Given the description of an element on the screen output the (x, y) to click on. 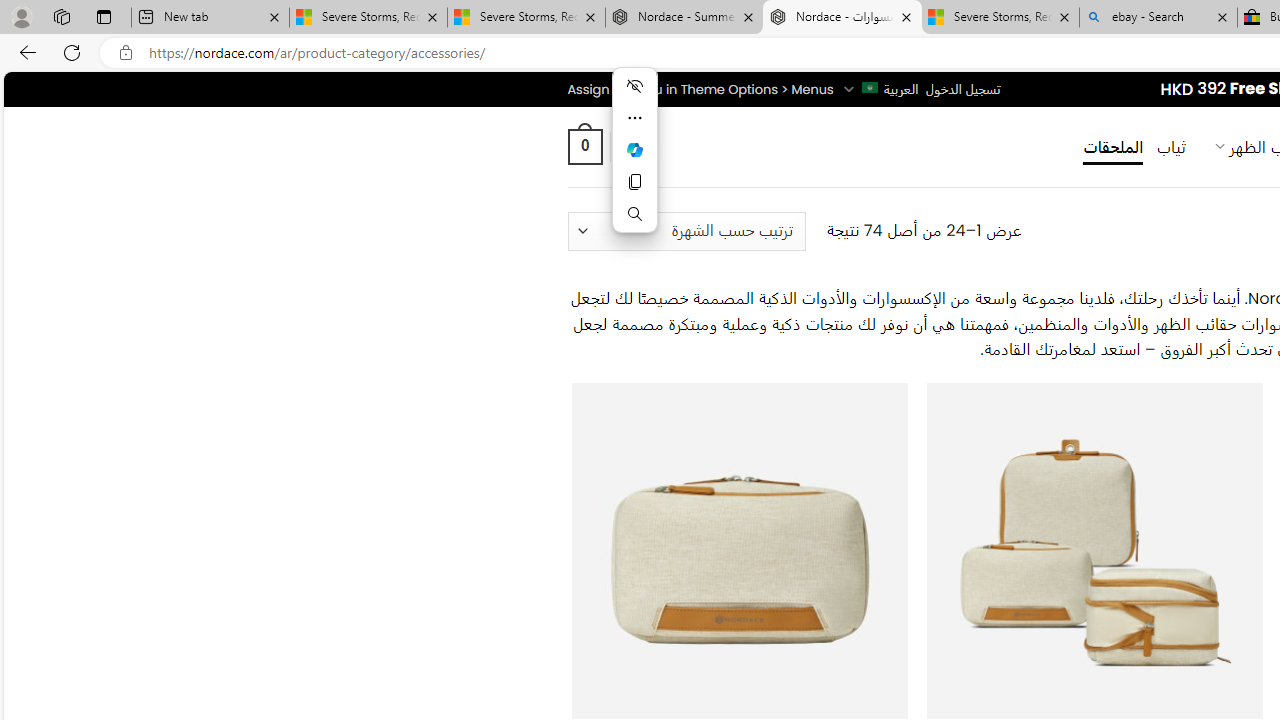
Refresh (72, 52)
Copy (634, 182)
Nordace - Summer Adventures 2024 (683, 17)
